Given the description of an element on the screen output the (x, y) to click on. 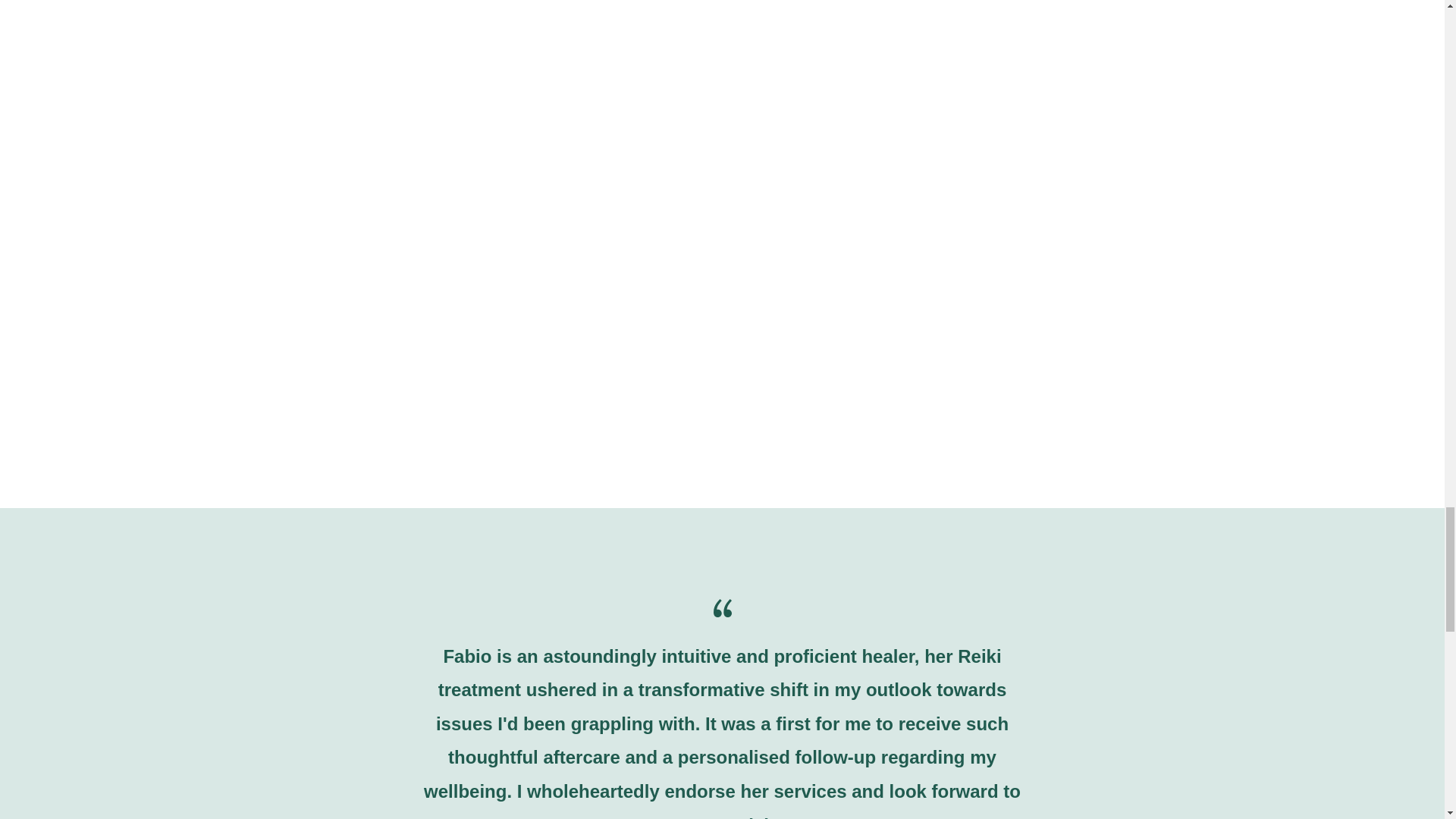
BOOK NOW (359, 165)
BOOK NOW (790, 466)
BOOK NOW (359, 466)
BOOK NOW (790, 165)
